Given the description of an element on the screen output the (x, y) to click on. 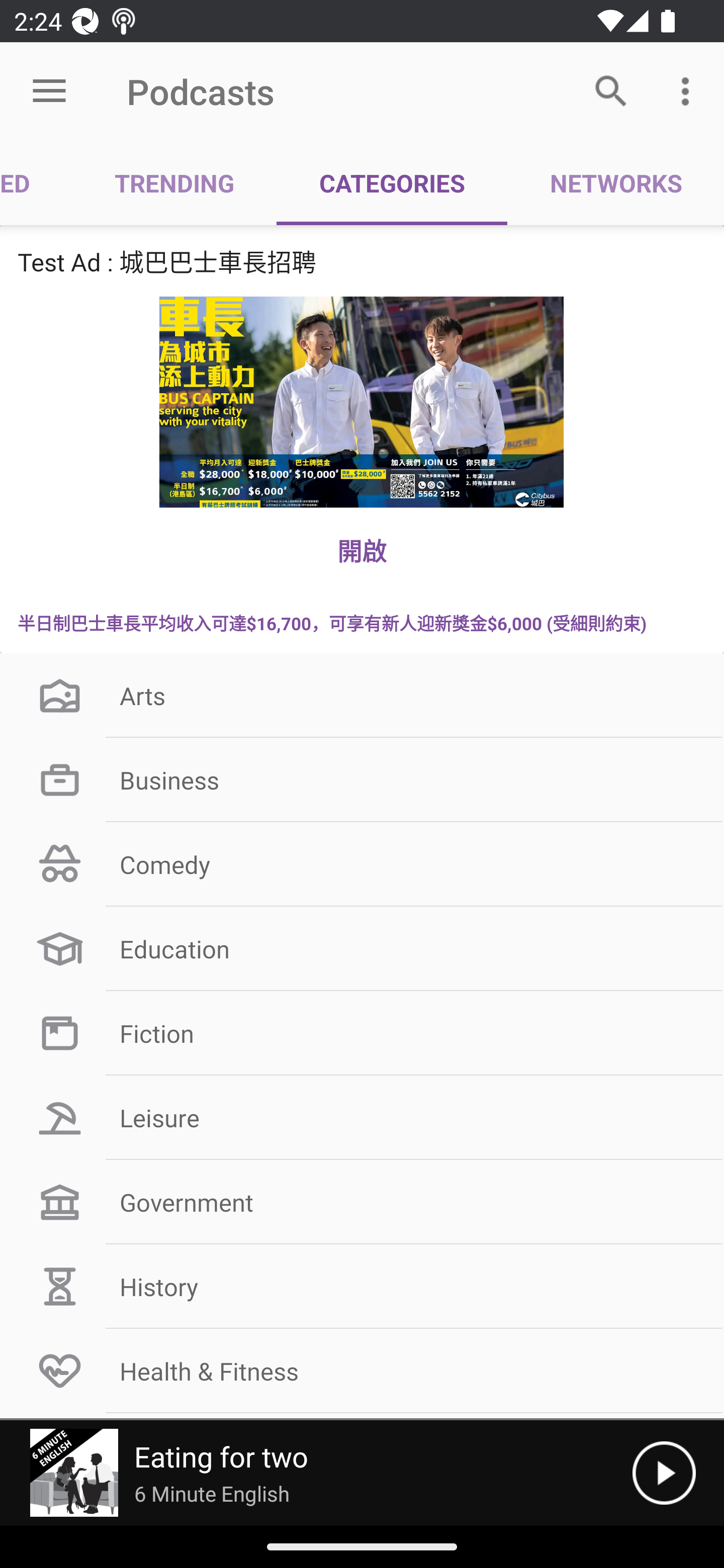
Open menu (49, 91)
Search (611, 90)
More options (688, 90)
TRENDING (174, 183)
CATEGORIES (391, 183)
NETWORKS (615, 183)
Test Ad : 城巴巴士車長招聘 (361, 261)
開啟 (362, 550)
半日制巴士車長平均收入可達$16,700，可享有新人迎新獎金$6,000 (受細則約束) (361, 622)
Arts (362, 695)
Business (362, 779)
Comedy (362, 863)
Education (362, 948)
Fiction (362, 1032)
Leisure (362, 1117)
Government (362, 1202)
History (362, 1286)
Health & Fitness (362, 1370)
Picture Eating for two 6 Minute English (316, 1472)
Play (663, 1472)
